Given the description of an element on the screen output the (x, y) to click on. 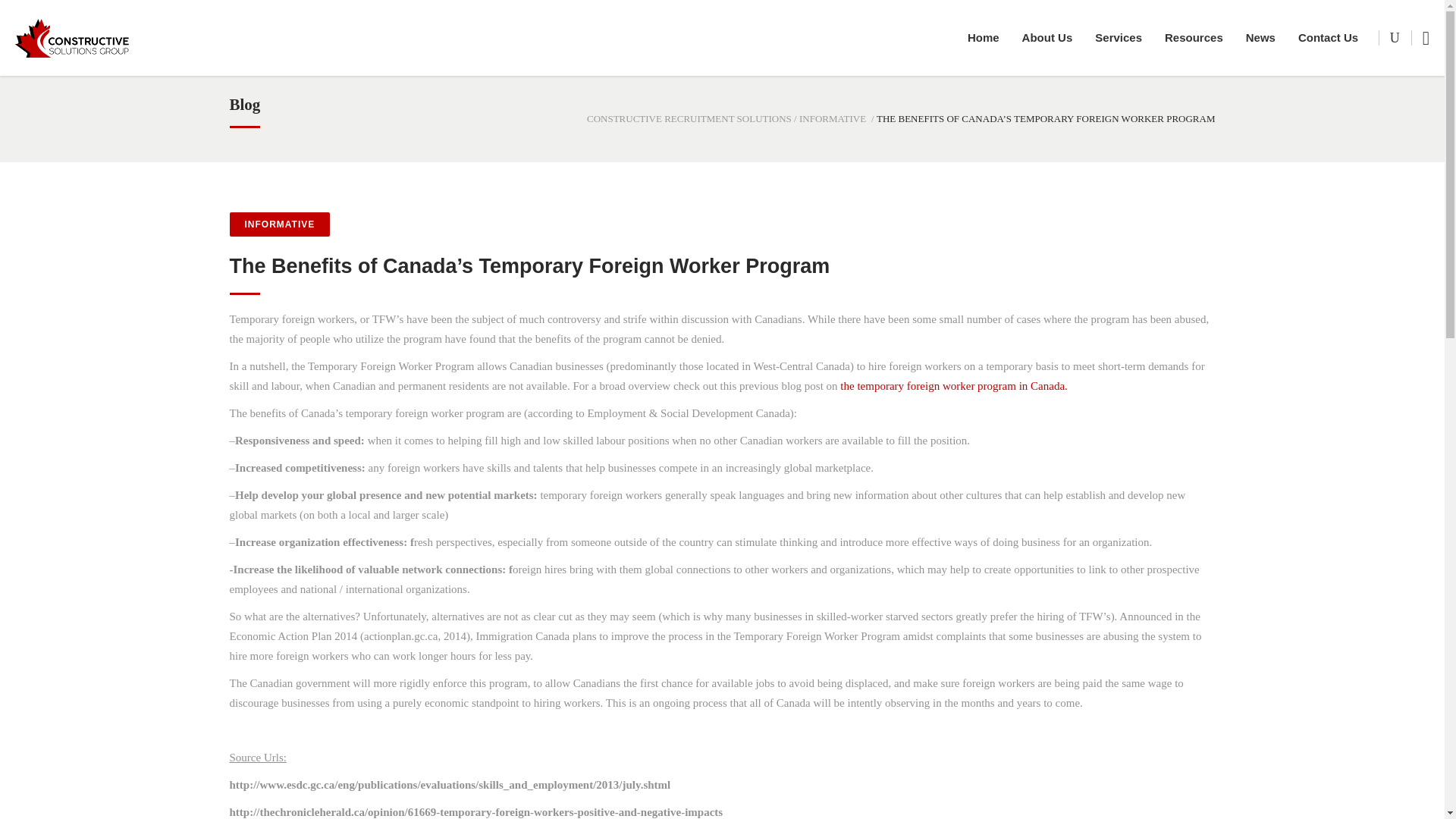
Contact Us (1328, 38)
Search (1366, 101)
Services (1118, 38)
Resources (1193, 38)
About Us (1047, 38)
